Given the description of an element on the screen output the (x, y) to click on. 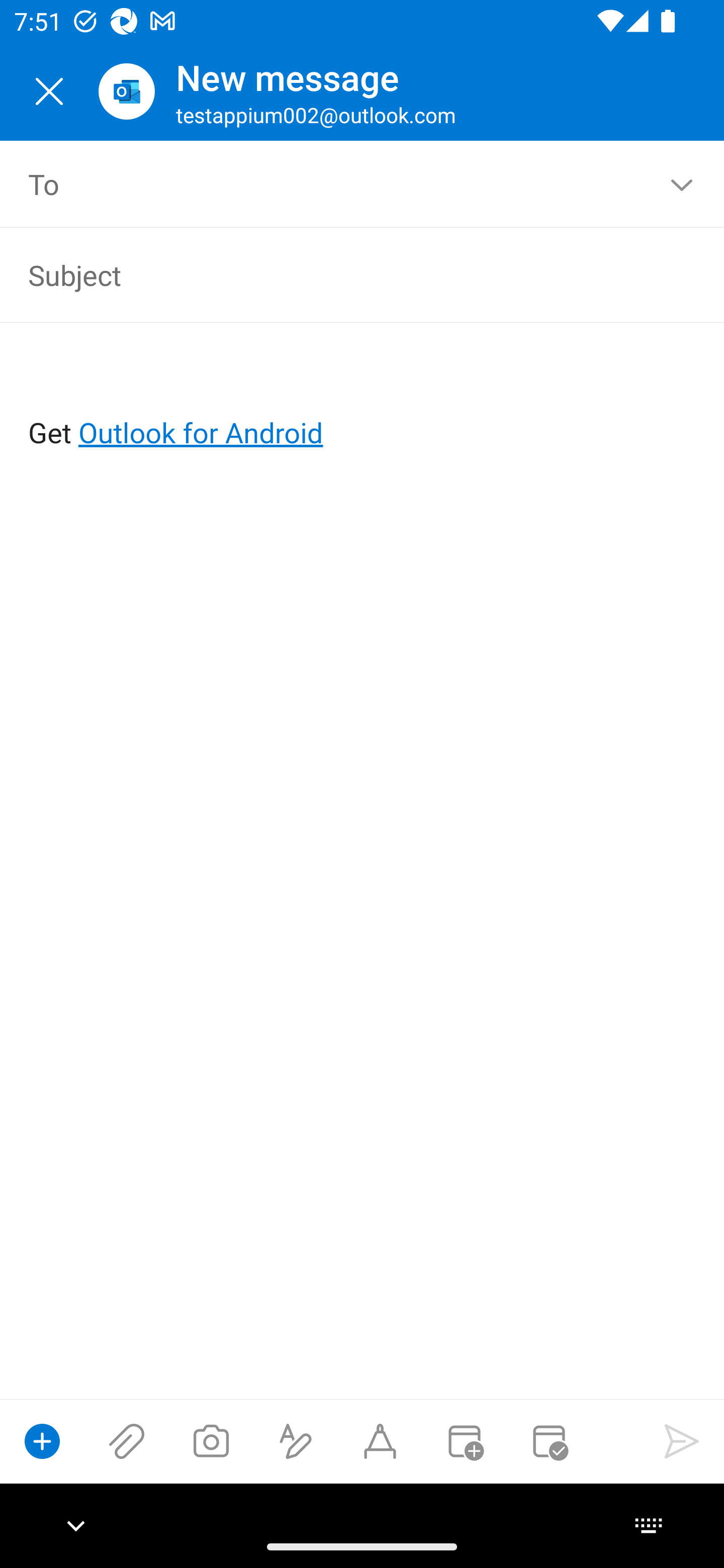
Close (49, 91)
Subject (333, 274)
Show compose options (42, 1440)
Attach files (126, 1440)
Take a photo (210, 1440)
Show formatting options (295, 1440)
Start Ink compose (380, 1440)
Convert to event (464, 1440)
Send availability (548, 1440)
Send (681, 1440)
